Given the description of an element on the screen output the (x, y) to click on. 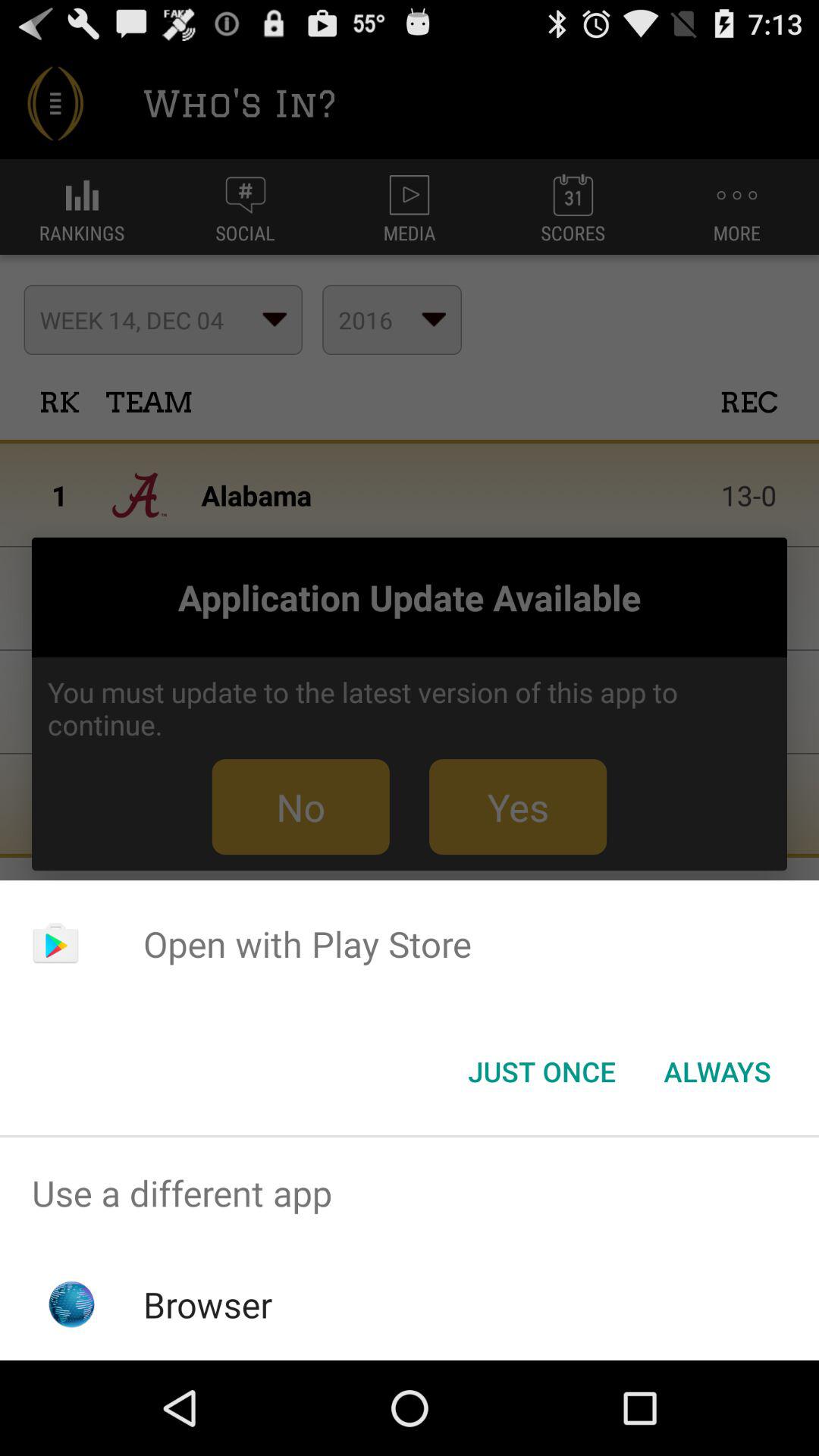
tap the icon below open with play item (717, 1071)
